Given the description of an element on the screen output the (x, y) to click on. 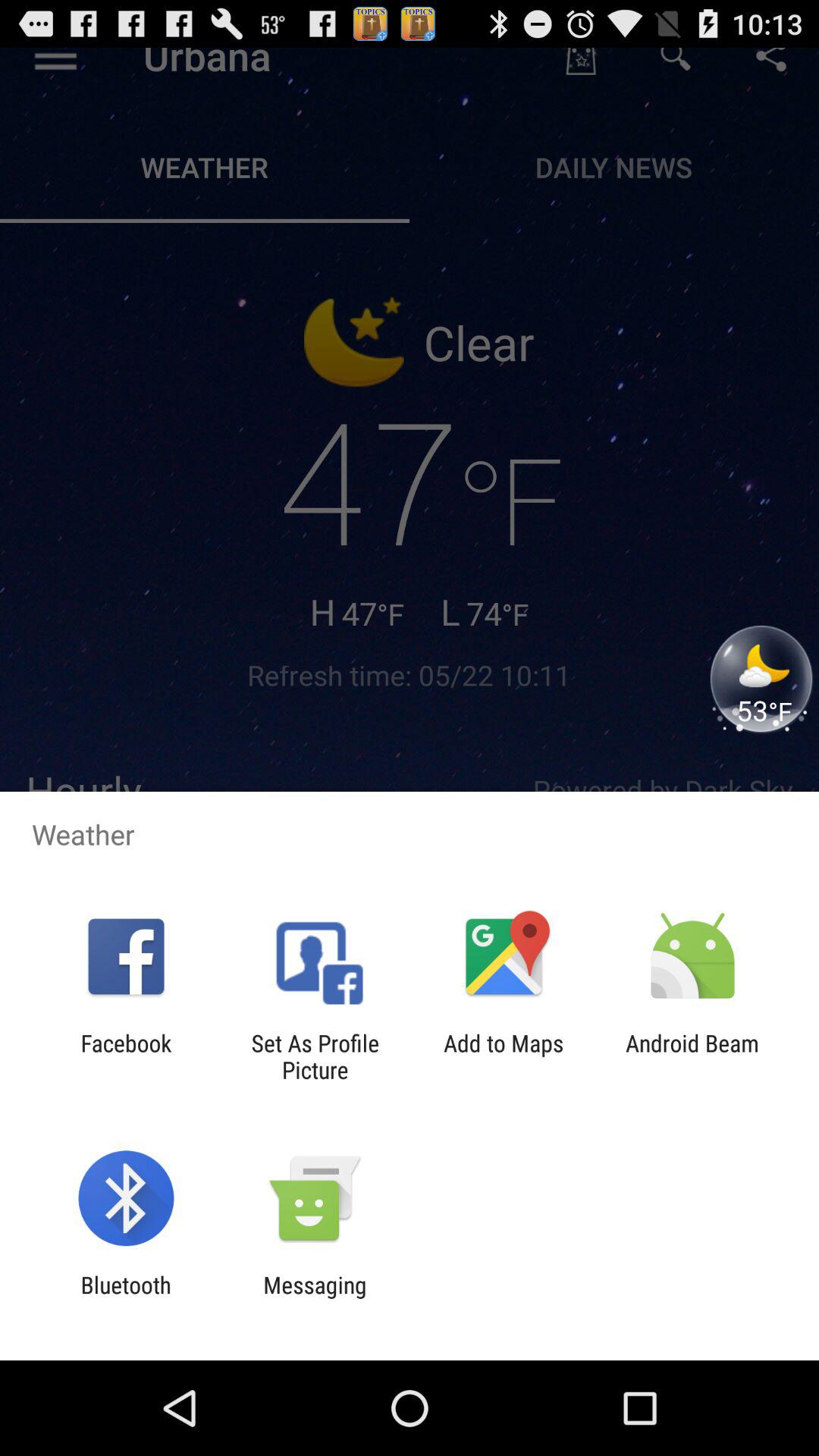
launch the app next to add to maps app (314, 1056)
